Given the description of an element on the screen output the (x, y) to click on. 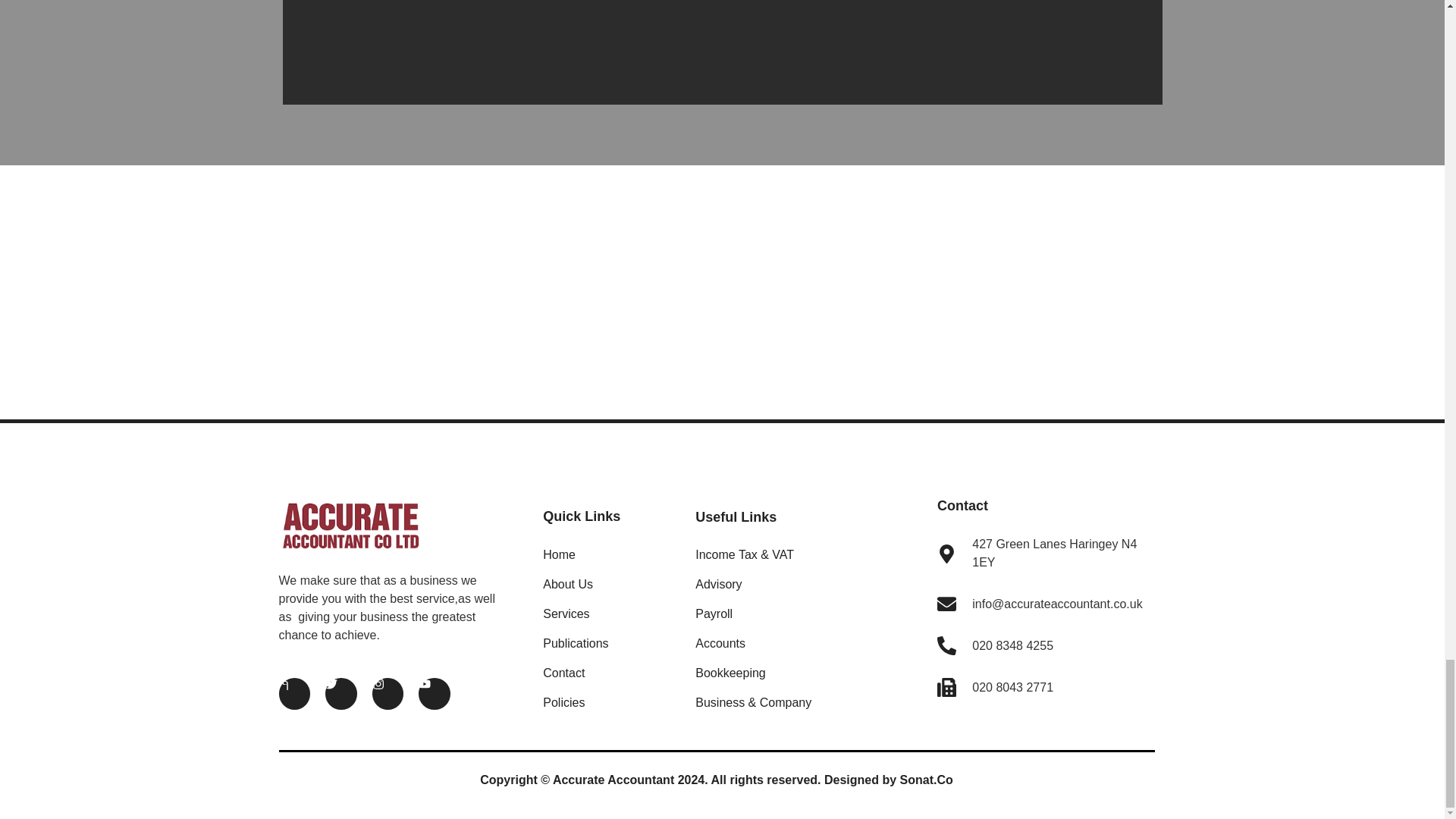
Publications (607, 643)
Services (607, 614)
Home (607, 555)
Contact (607, 673)
Policies (607, 702)
About Us (607, 584)
